Given the description of an element on the screen output the (x, y) to click on. 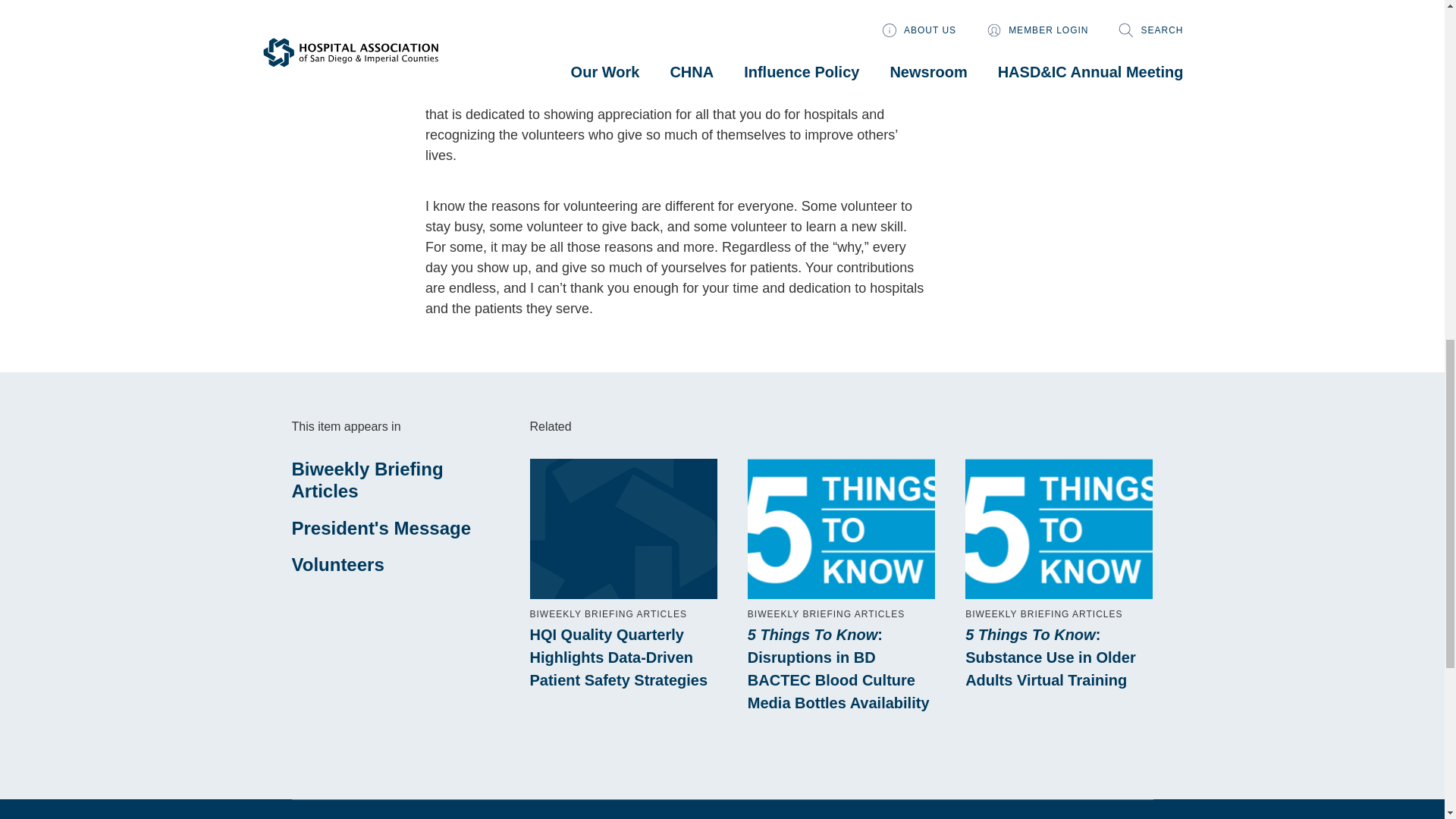
Volunteers (337, 564)
National Volunteer Week (712, 32)
President's Message (380, 527)
Biweekly Briefing Articles (366, 479)
